Given the description of an element on the screen output the (x, y) to click on. 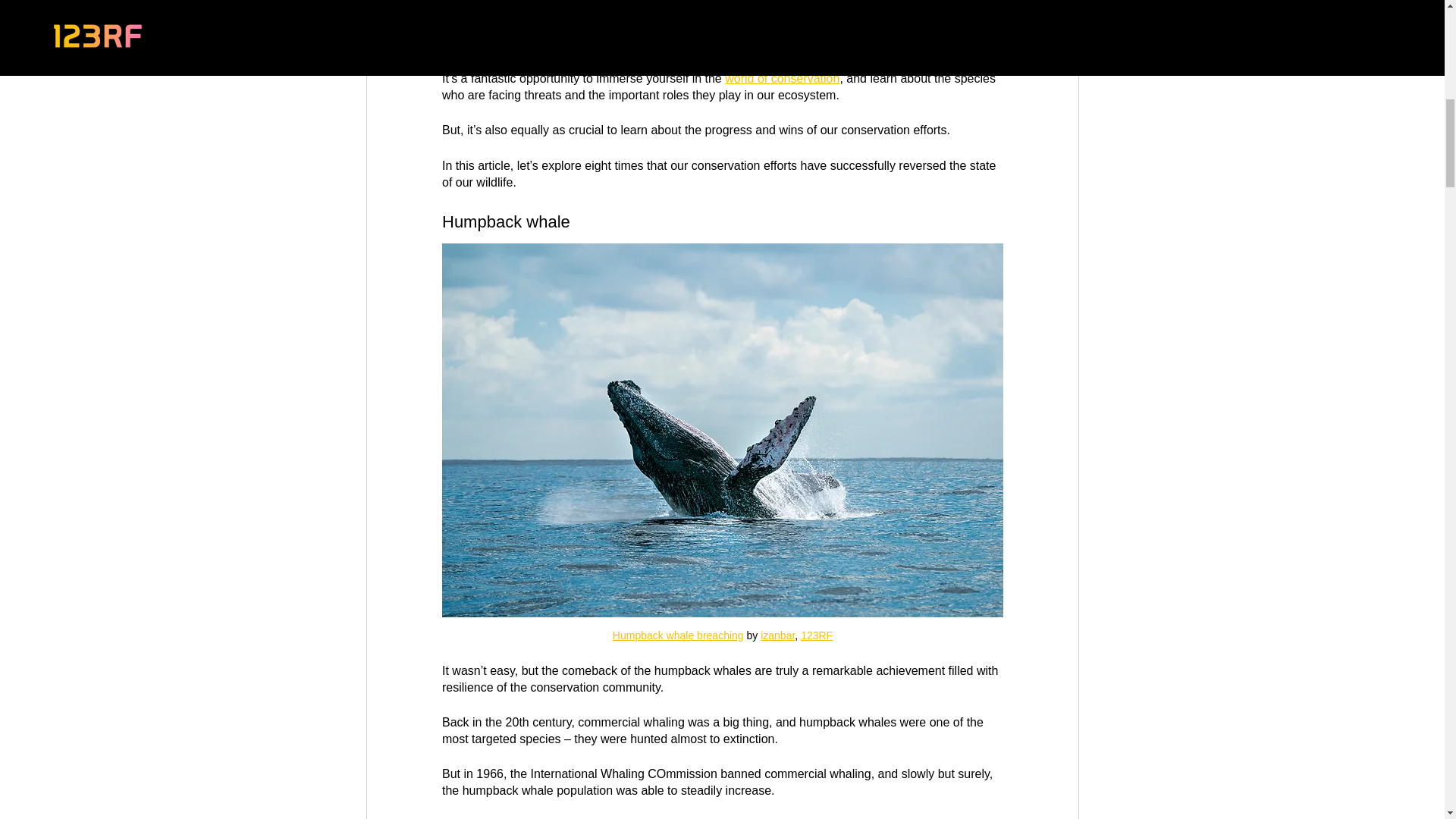
world of conservation (782, 78)
Humpback whale breaching (676, 634)
amazing wildlife (686, 10)
